Given the description of an element on the screen output the (x, y) to click on. 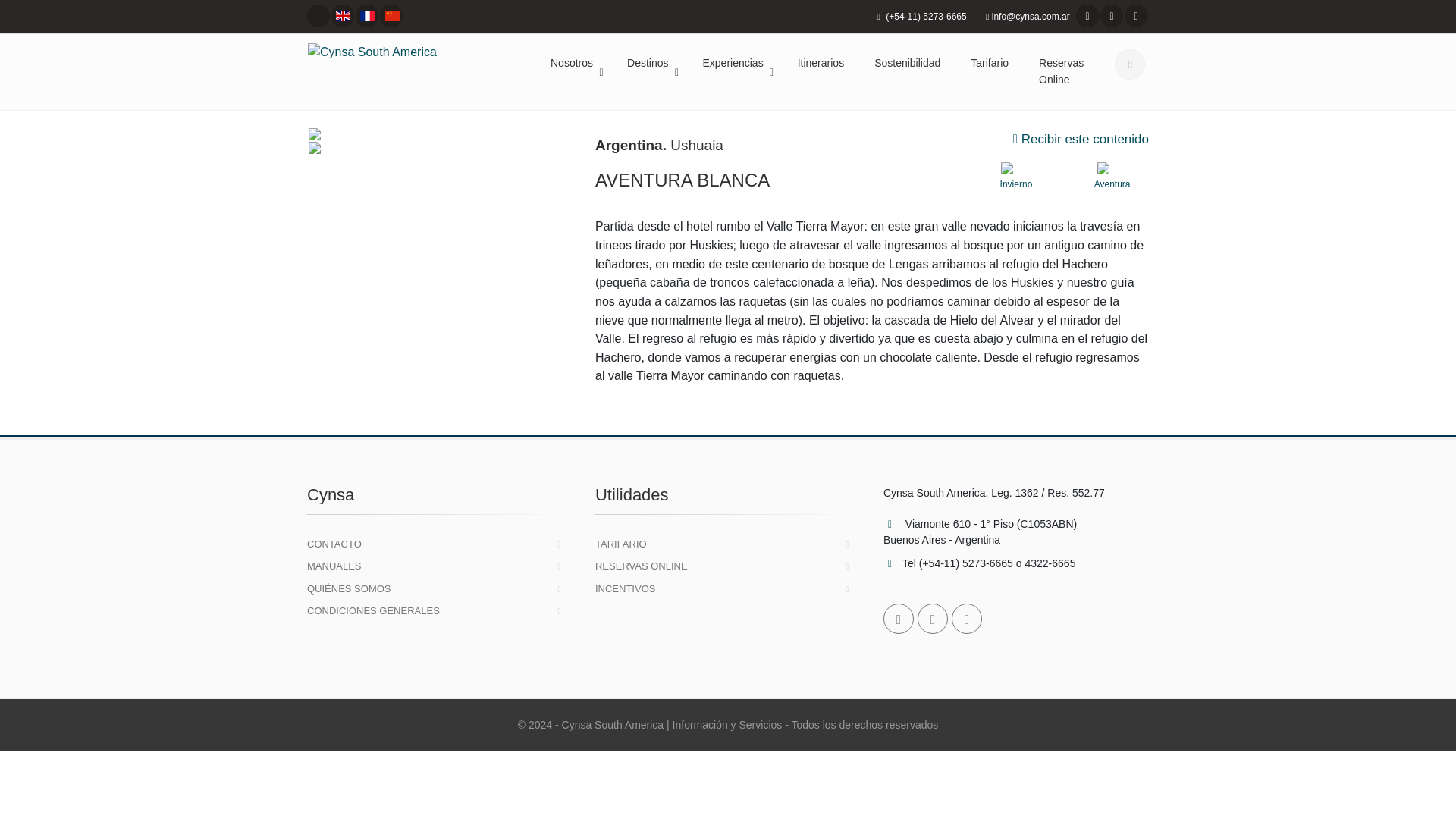
Nosotros (573, 63)
Destinos (649, 63)
